Given the description of an element on the screen output the (x, y) to click on. 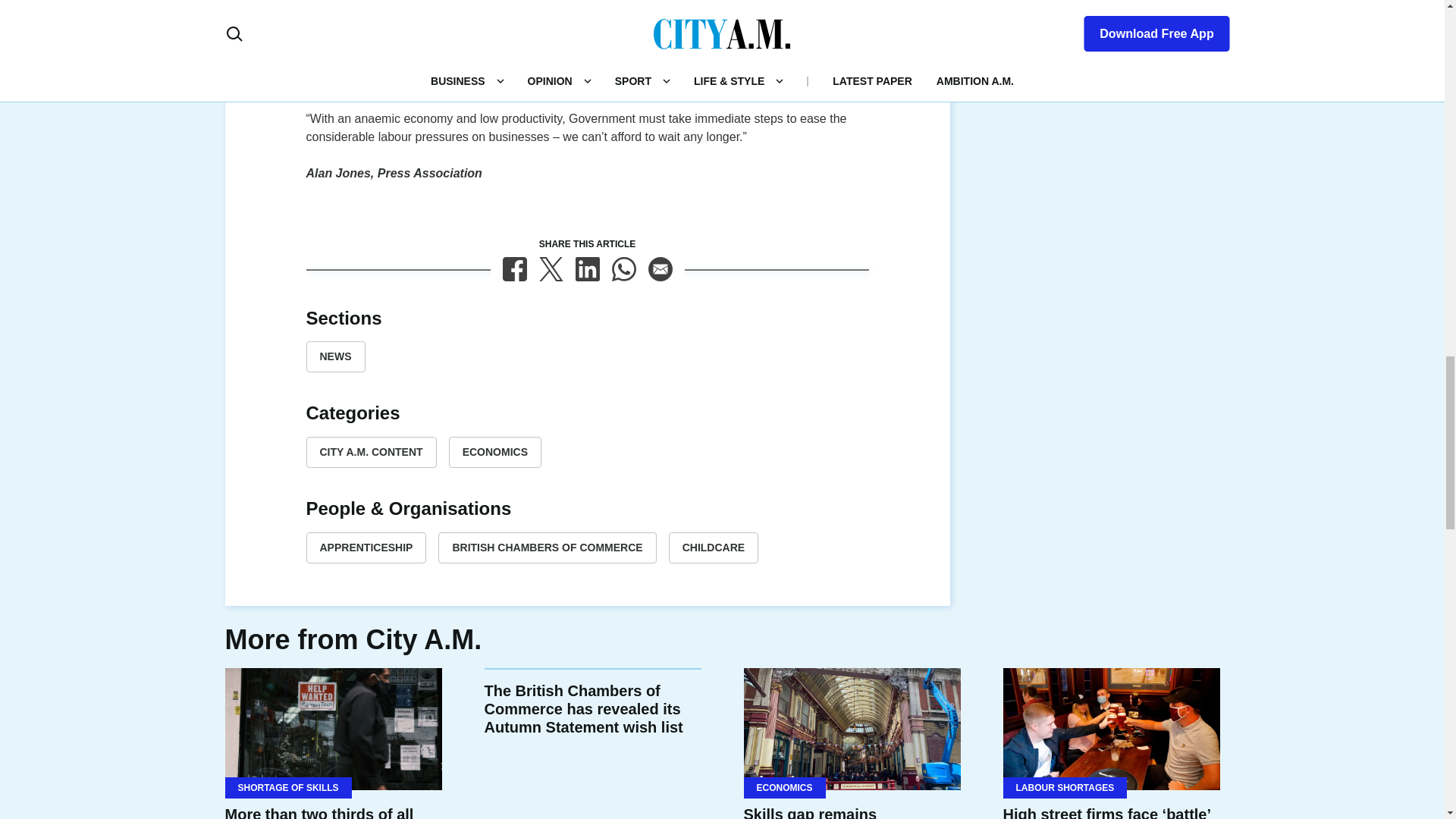
LinkedIn (586, 269)
X (550, 269)
Email (659, 269)
WhatsApp (622, 269)
Facebook (513, 269)
